Given the description of an element on the screen output the (x, y) to click on. 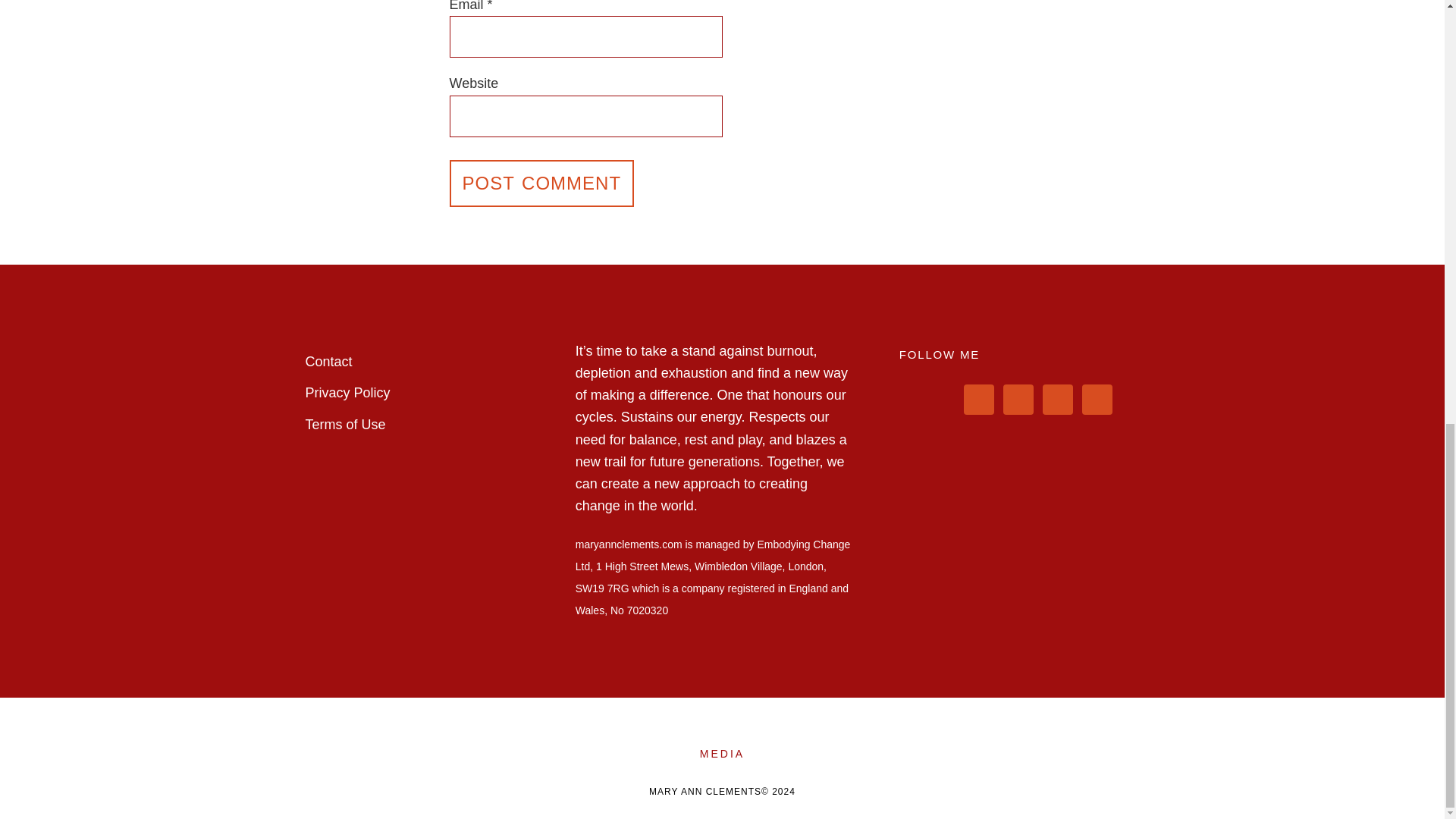
Post Comment (540, 182)
Contact (328, 360)
MEDIA (722, 752)
Post Comment (540, 182)
Terms of Use (344, 424)
Privacy Policy (347, 392)
